Given the description of an element on the screen output the (x, y) to click on. 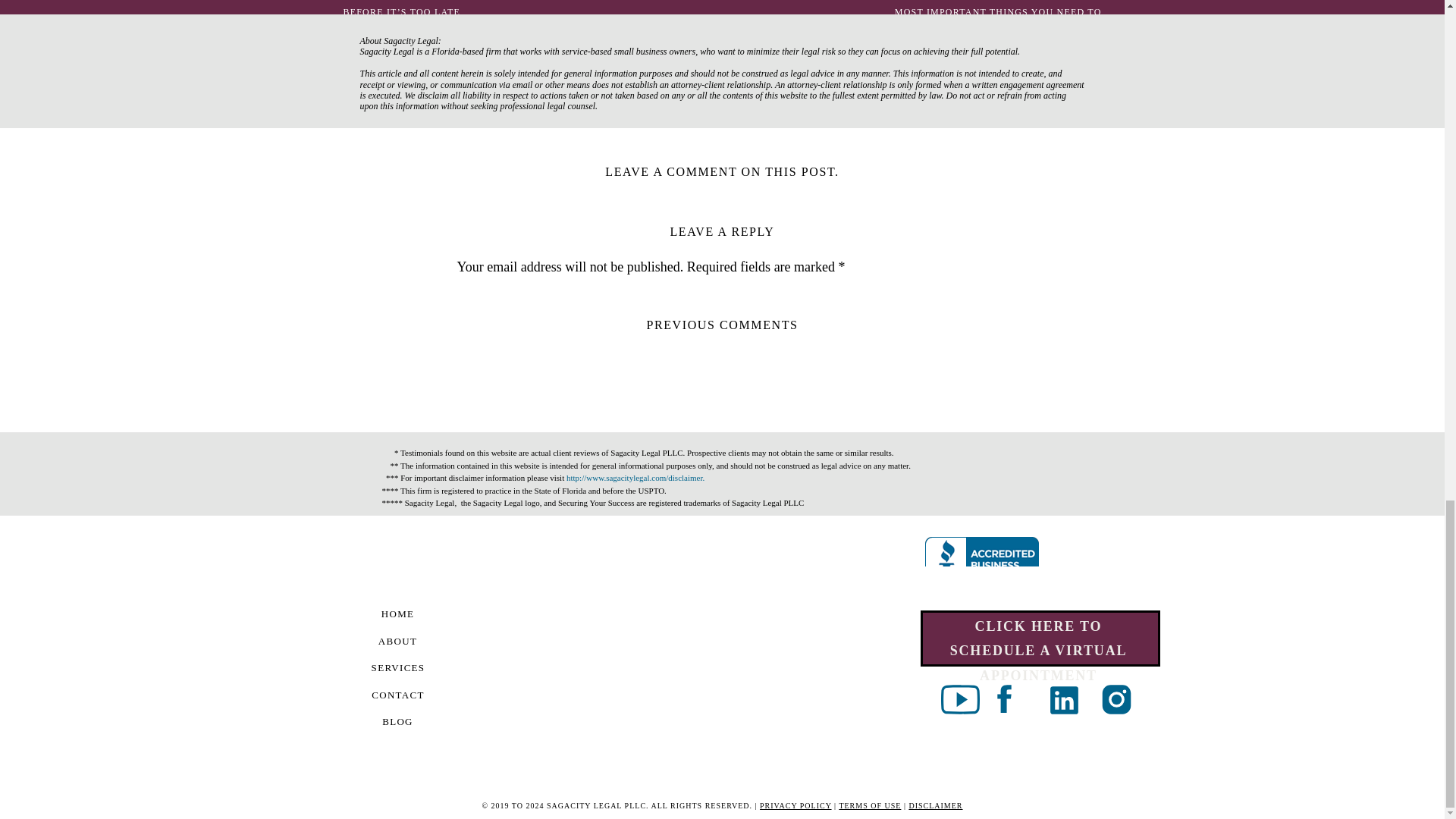
yes (464, 666)
Post Comment (505, 736)
